Given the description of an element on the screen output the (x, y) to click on. 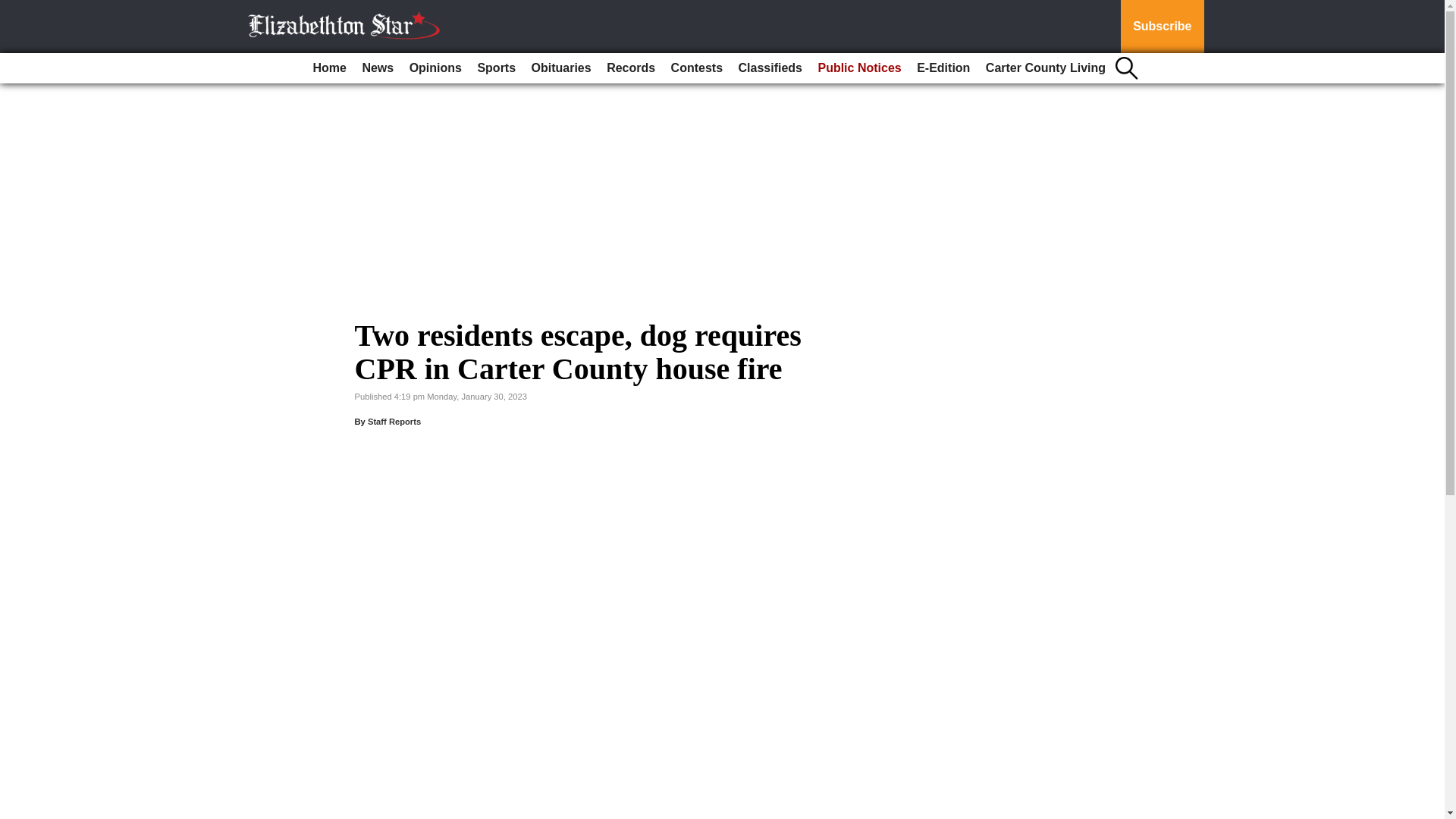
Obituaries (560, 68)
Subscribe (1162, 26)
Staff Reports (394, 420)
Go (13, 9)
Contests (697, 68)
Classifieds (770, 68)
News (376, 68)
Sports (495, 68)
Opinions (435, 68)
Home (328, 68)
